Given the description of an element on the screen output the (x, y) to click on. 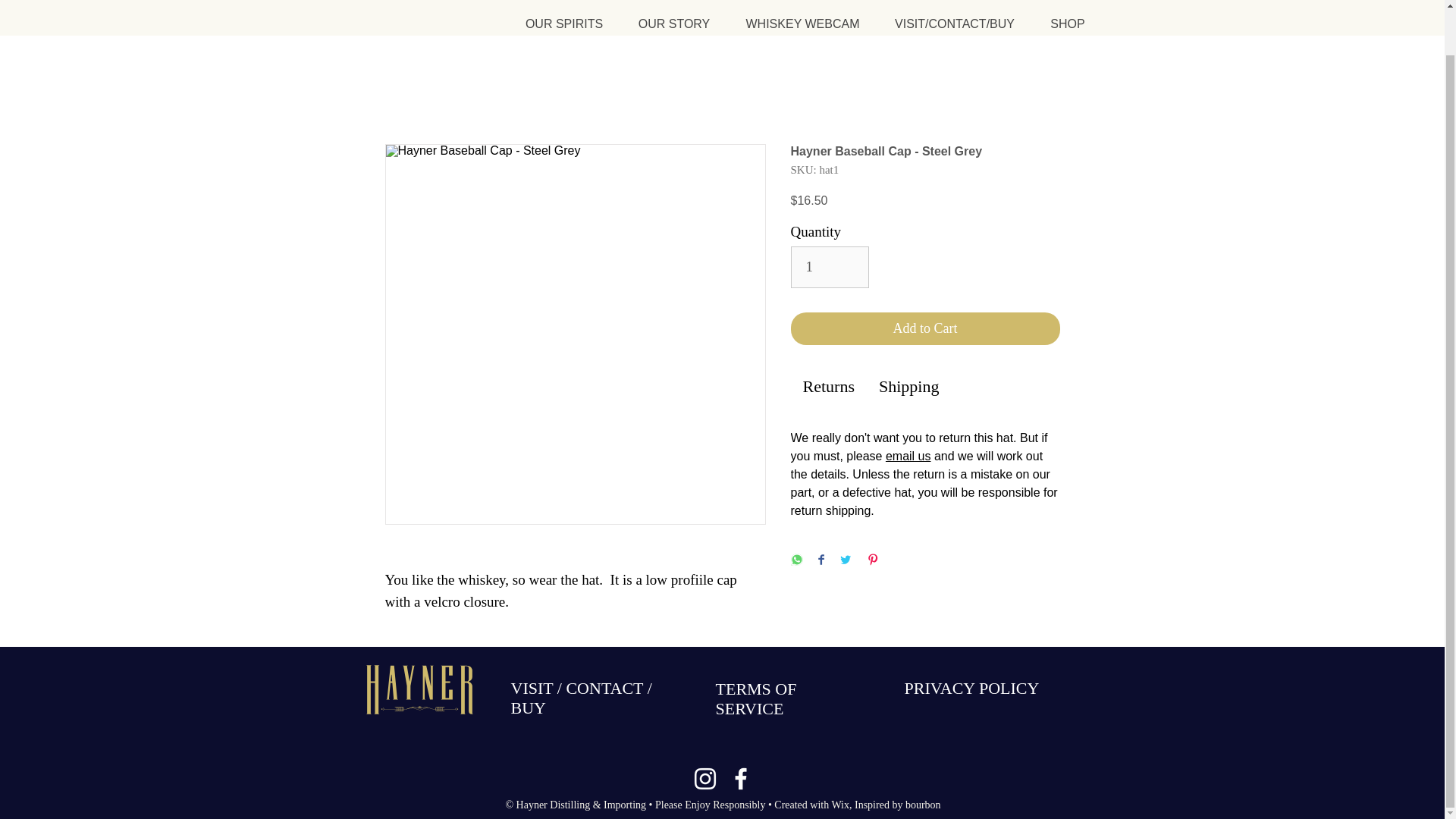
Use right and left arrows to navigate between tabs (828, 386)
SHOP (1066, 24)
WHISKEY WEBCAM (802, 24)
email us (908, 455)
1 (829, 267)
Use right and left arrows to navigate between tabs (908, 386)
Add to Cart (924, 328)
